Given the description of an element on the screen output the (x, y) to click on. 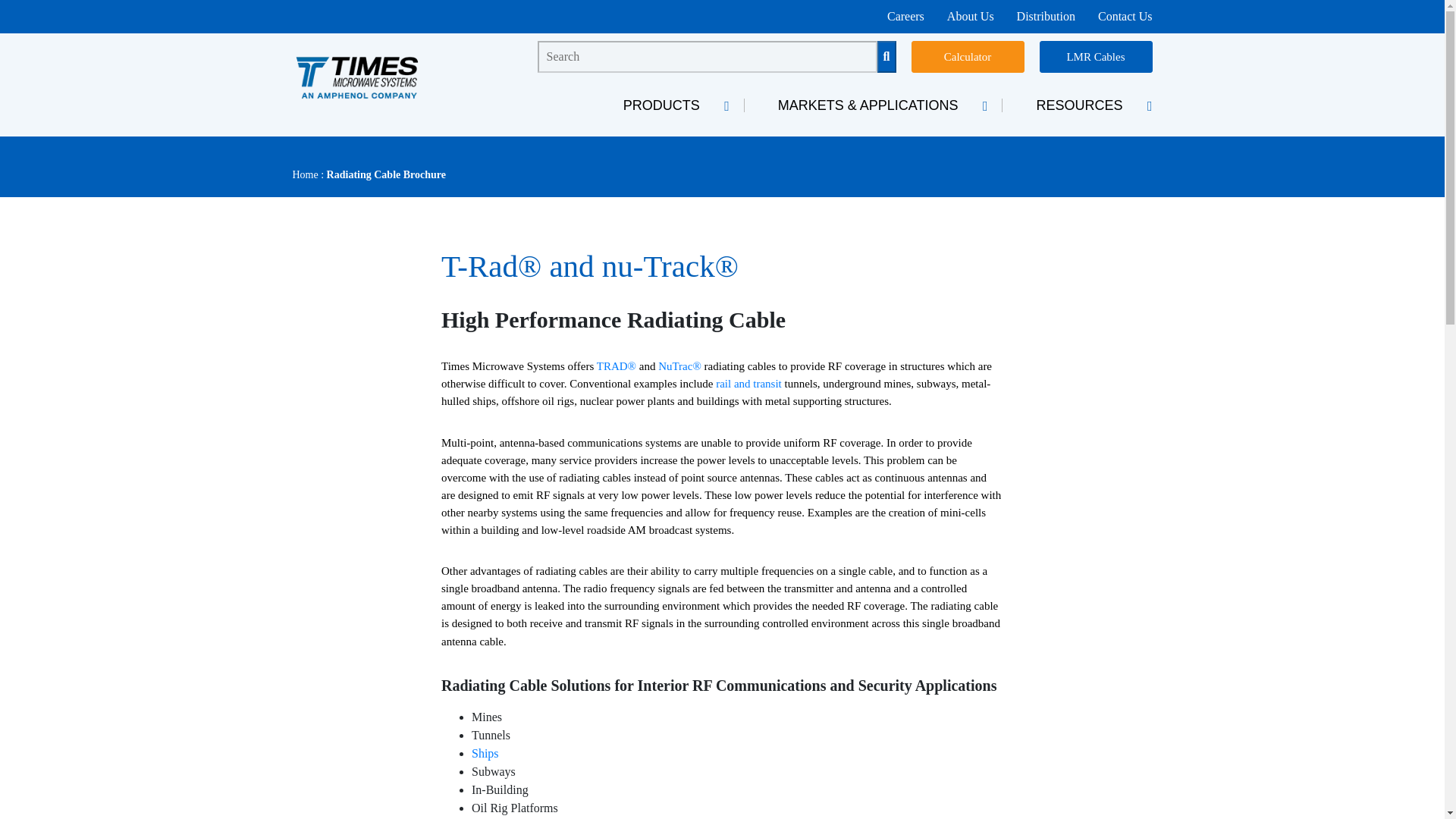
LMR Cables (1095, 56)
Calculator (968, 56)
PRODUCTS (666, 104)
Distribution (1045, 15)
About Us (970, 15)
LMR Cables (1095, 56)
Calculator (968, 56)
Contact Us (1125, 15)
Careers (905, 15)
